Given the description of an element on the screen output the (x, y) to click on. 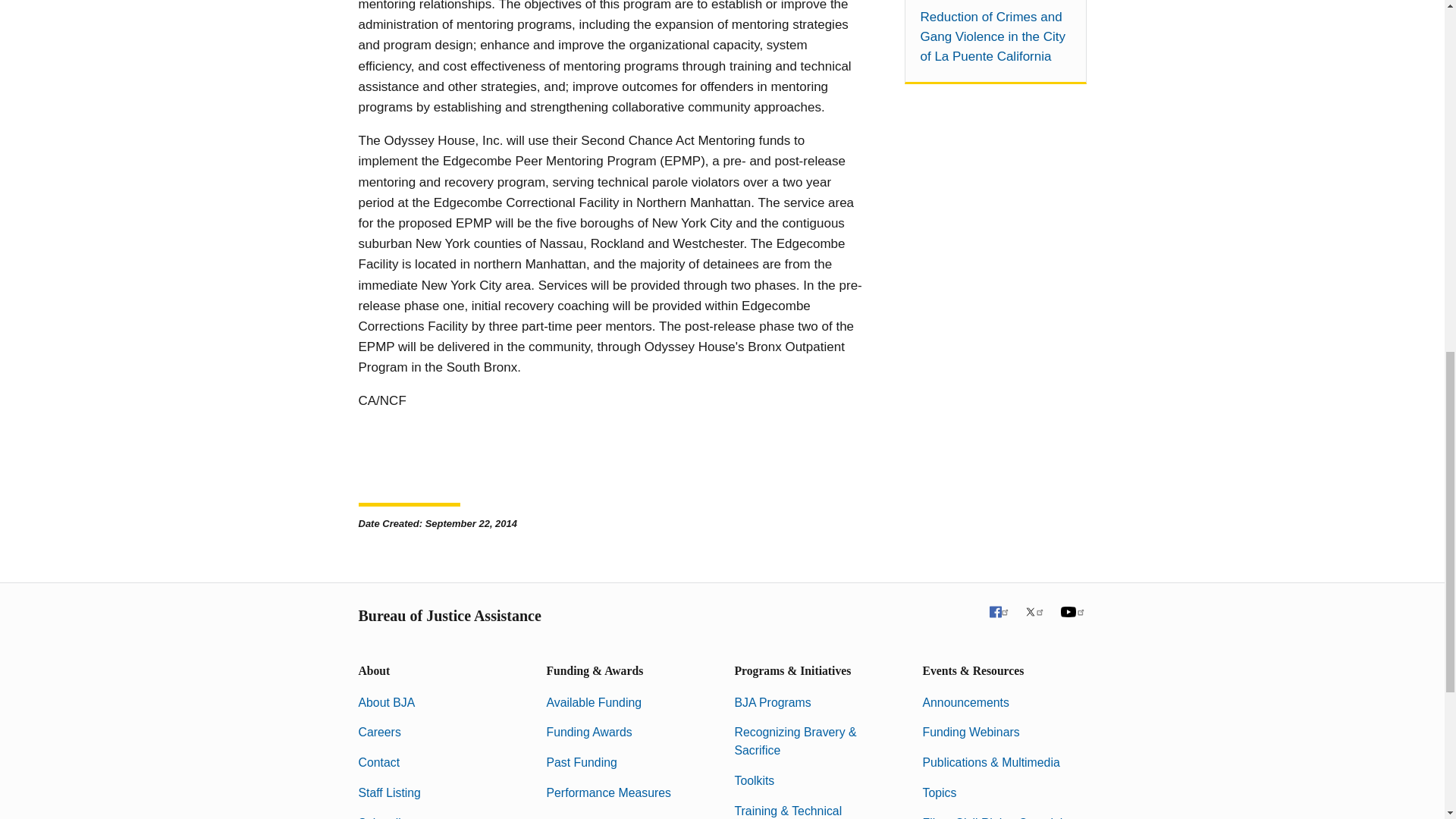
Contact (378, 762)
Careers (379, 731)
Available Funding (594, 702)
About BJA (386, 702)
Staff Listing (389, 792)
Subscribe (384, 817)
